Given the description of an element on the screen output the (x, y) to click on. 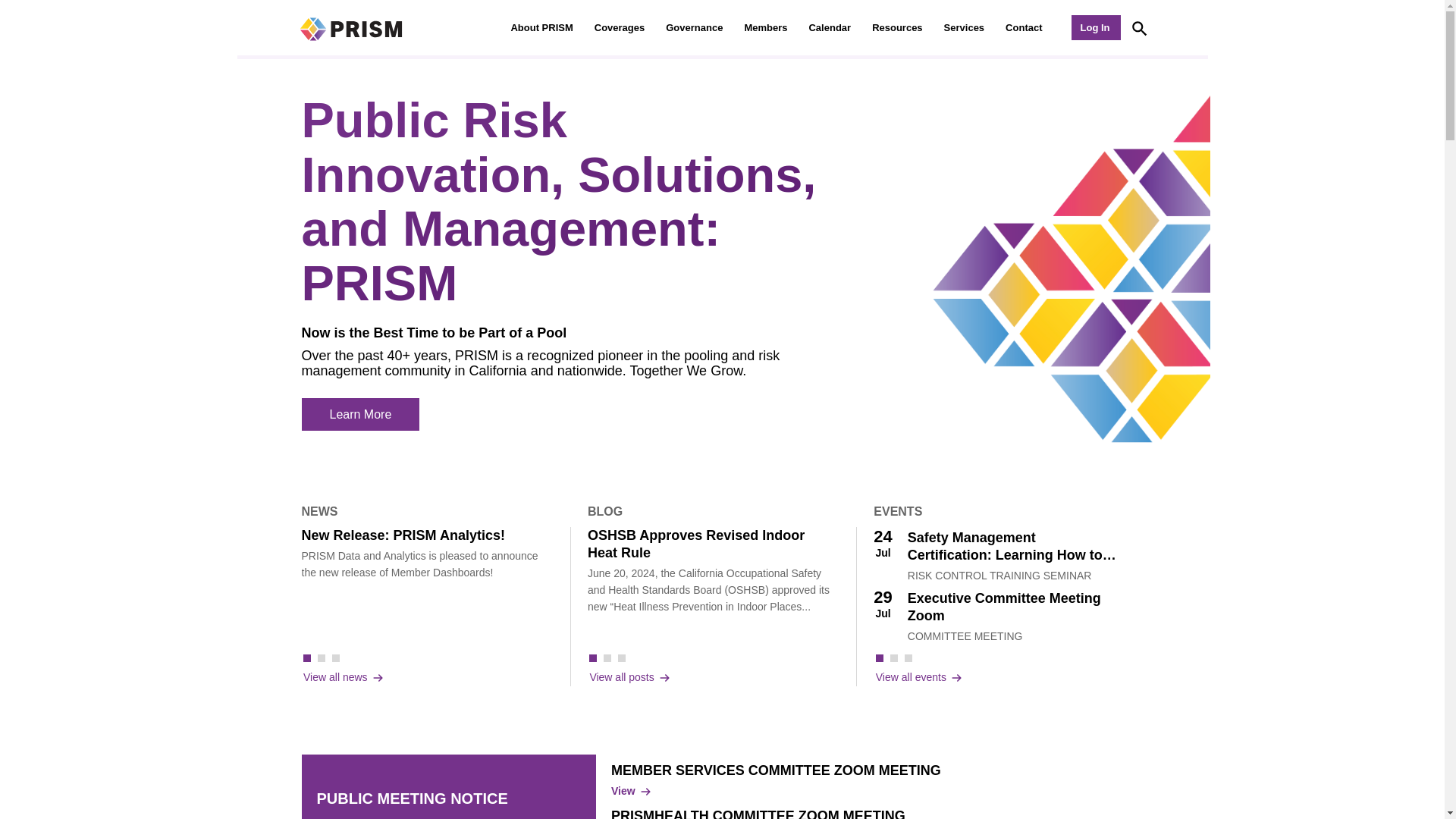
PRISM Home (350, 26)
Coverages (619, 27)
About PRISM (541, 27)
